Given the description of an element on the screen output the (x, y) to click on. 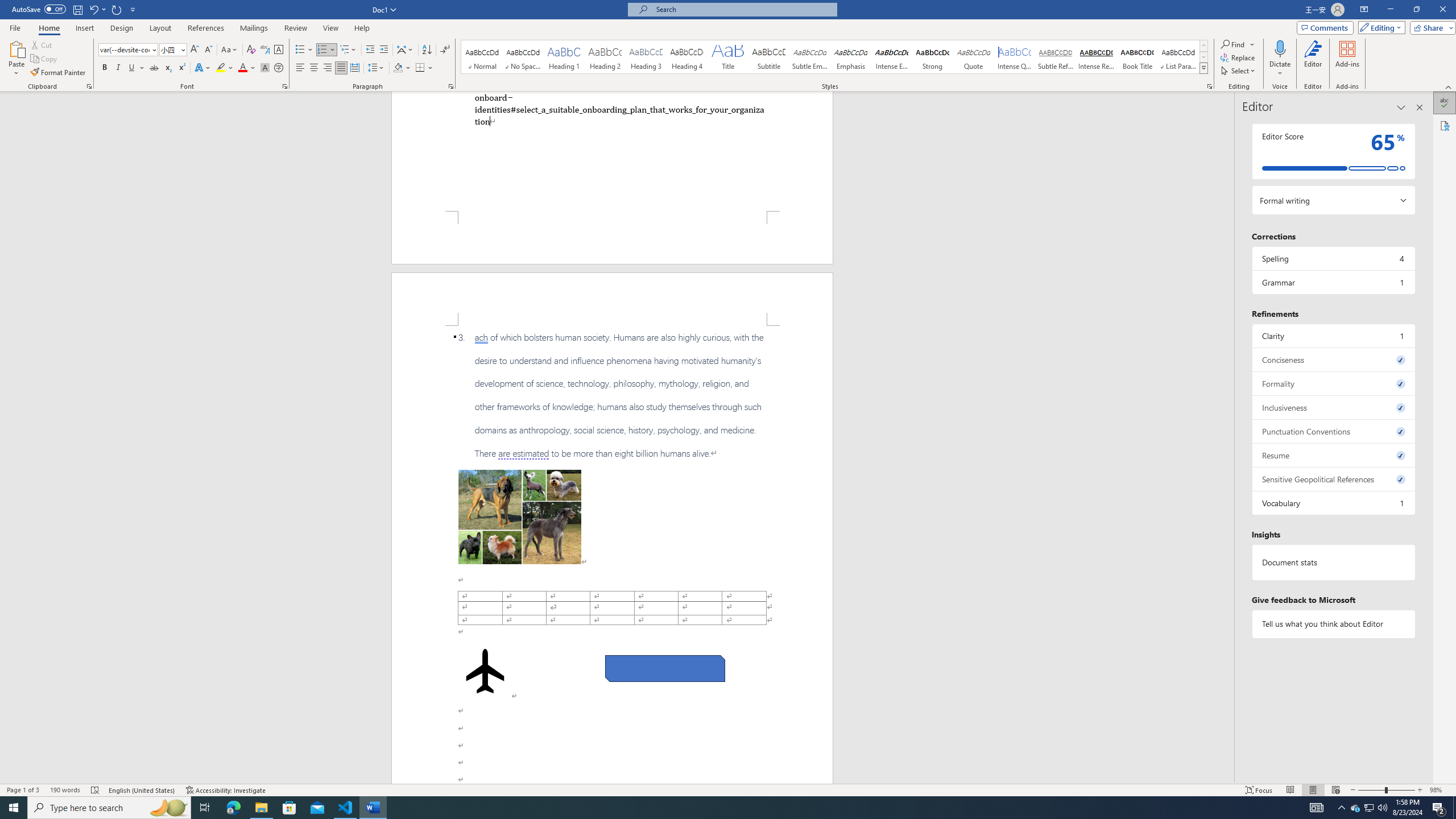
Undo Apply Quick Style (92, 9)
Heading 2 (605, 56)
Intense Emphasis (891, 56)
